Given the description of an element on the screen output the (x, y) to click on. 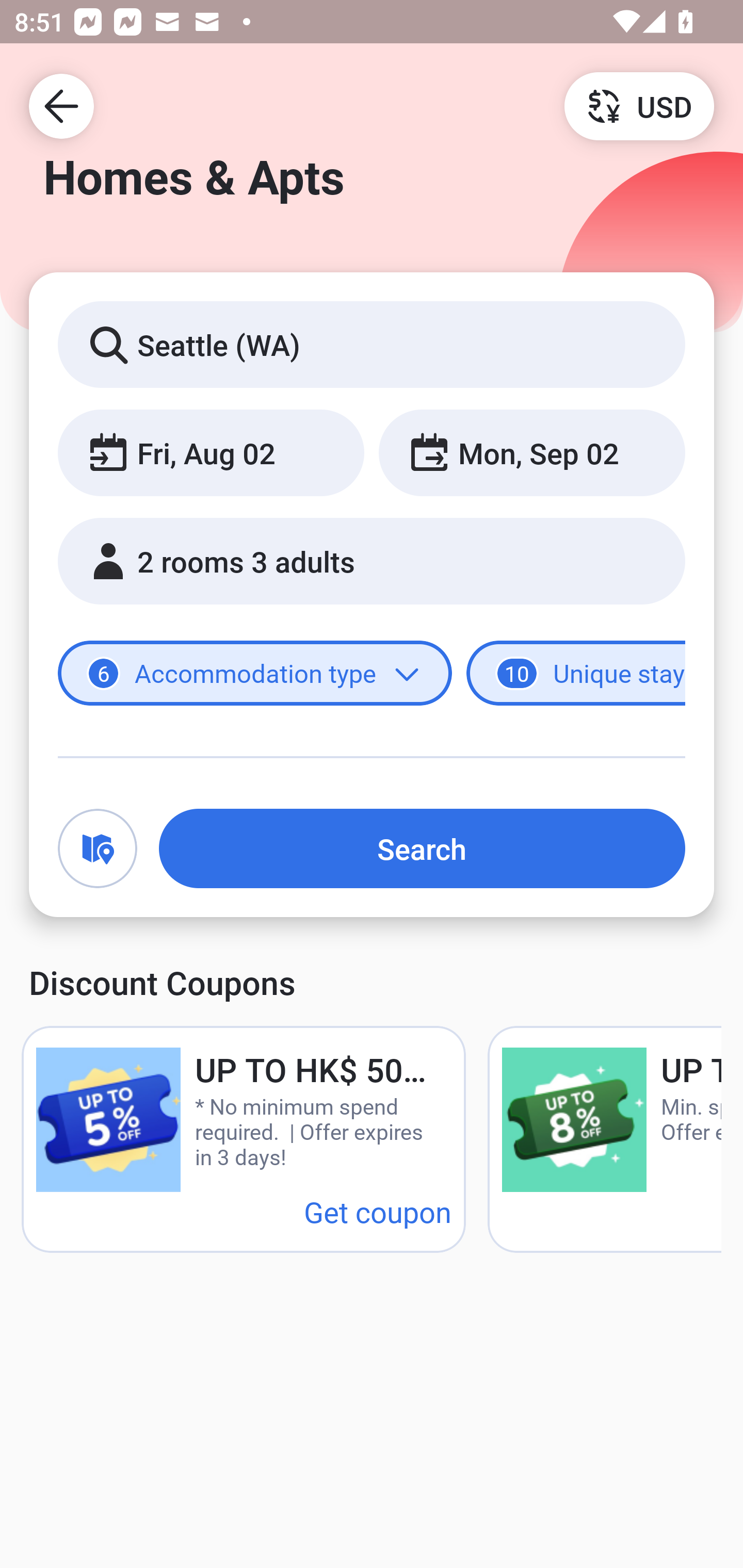
USD (639, 105)
Seattle (WA) (371, 344)
Fri, Aug 02 (210, 452)
Mon, Sep 02 (531, 452)
2 rooms 3 adults (371, 561)
6 Accommodation type (254, 673)
10 Unique stays (575, 673)
Search (422, 848)
Get coupon (377, 1211)
